Given the description of an element on the screen output the (x, y) to click on. 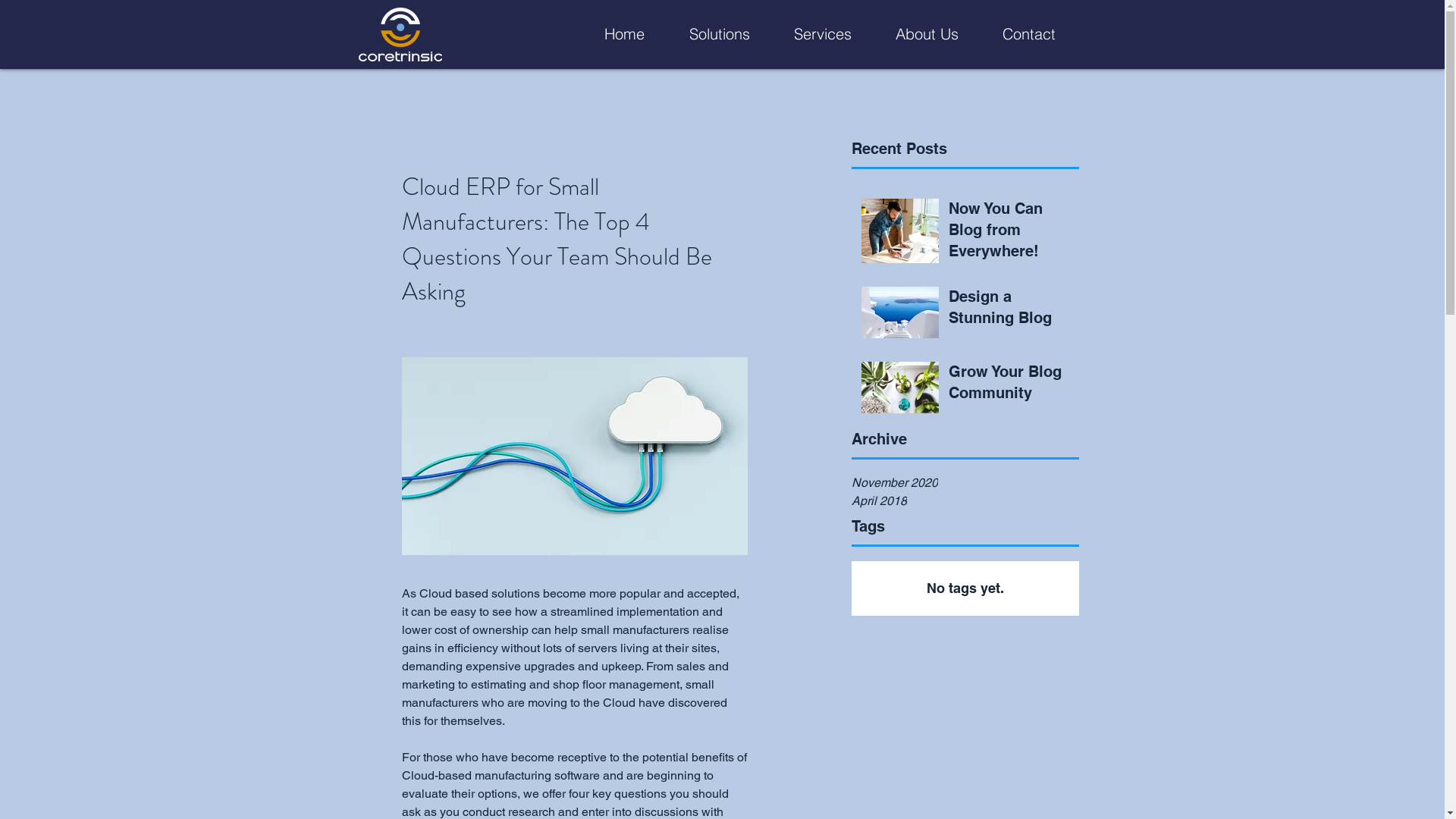
Services Element type: text (811, 33)
About Us Element type: text (915, 33)
November 2020 Element type: text (964, 482)
Solutions Element type: text (707, 33)
Contact Element type: text (1017, 33)
April 2018 Element type: text (964, 501)
Home Element type: text (612, 33)
Now You Can Blog from Everywhere! Element type: text (1008, 232)
Design a Stunning Blog Element type: text (1008, 309)
Grow Your Blog Community Element type: text (1008, 384)
